Given the description of an element on the screen output the (x, y) to click on. 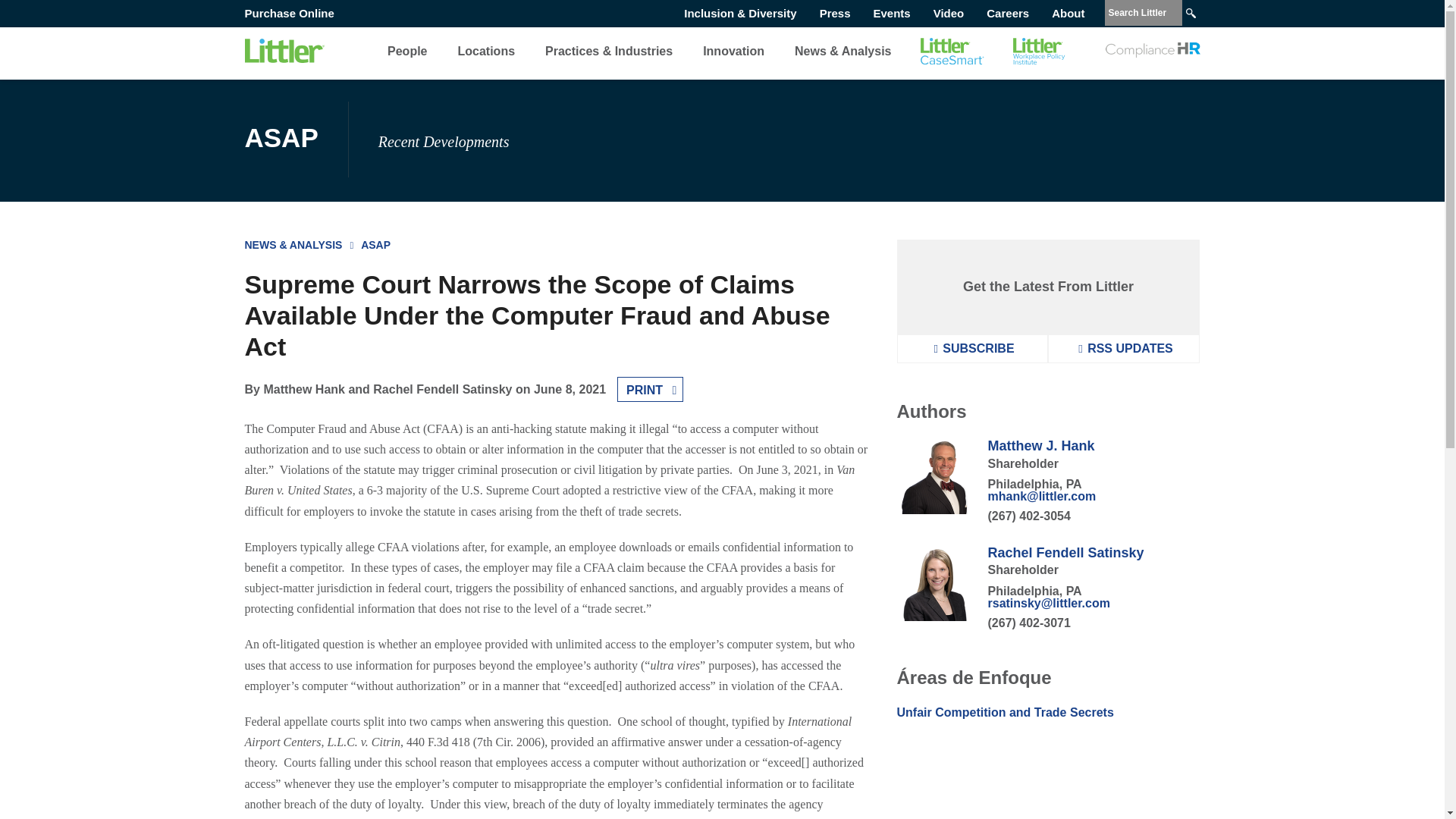
Littler Mendelson P.C. Home (283, 51)
